Given the description of an element on the screen output the (x, y) to click on. 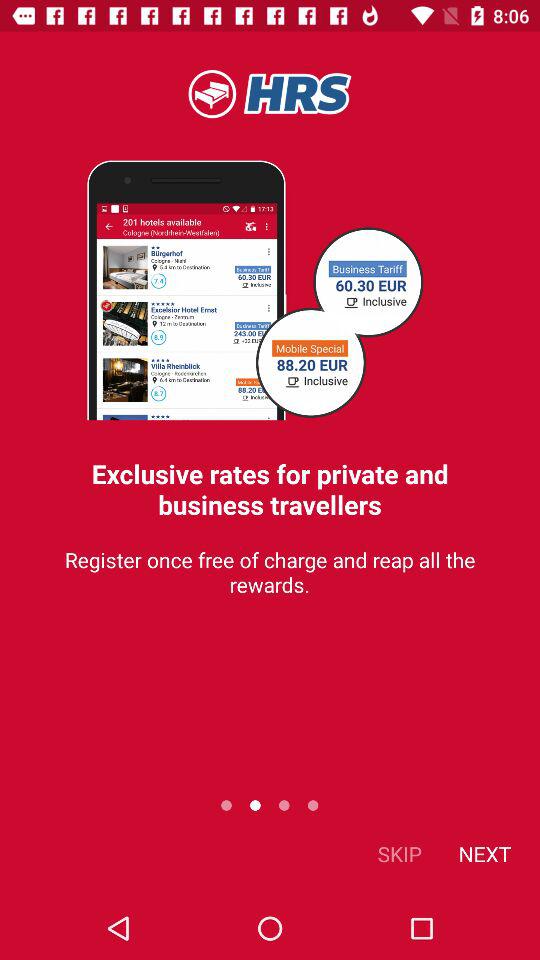
tap the item next to the skip item (484, 853)
